Given the description of an element on the screen output the (x, y) to click on. 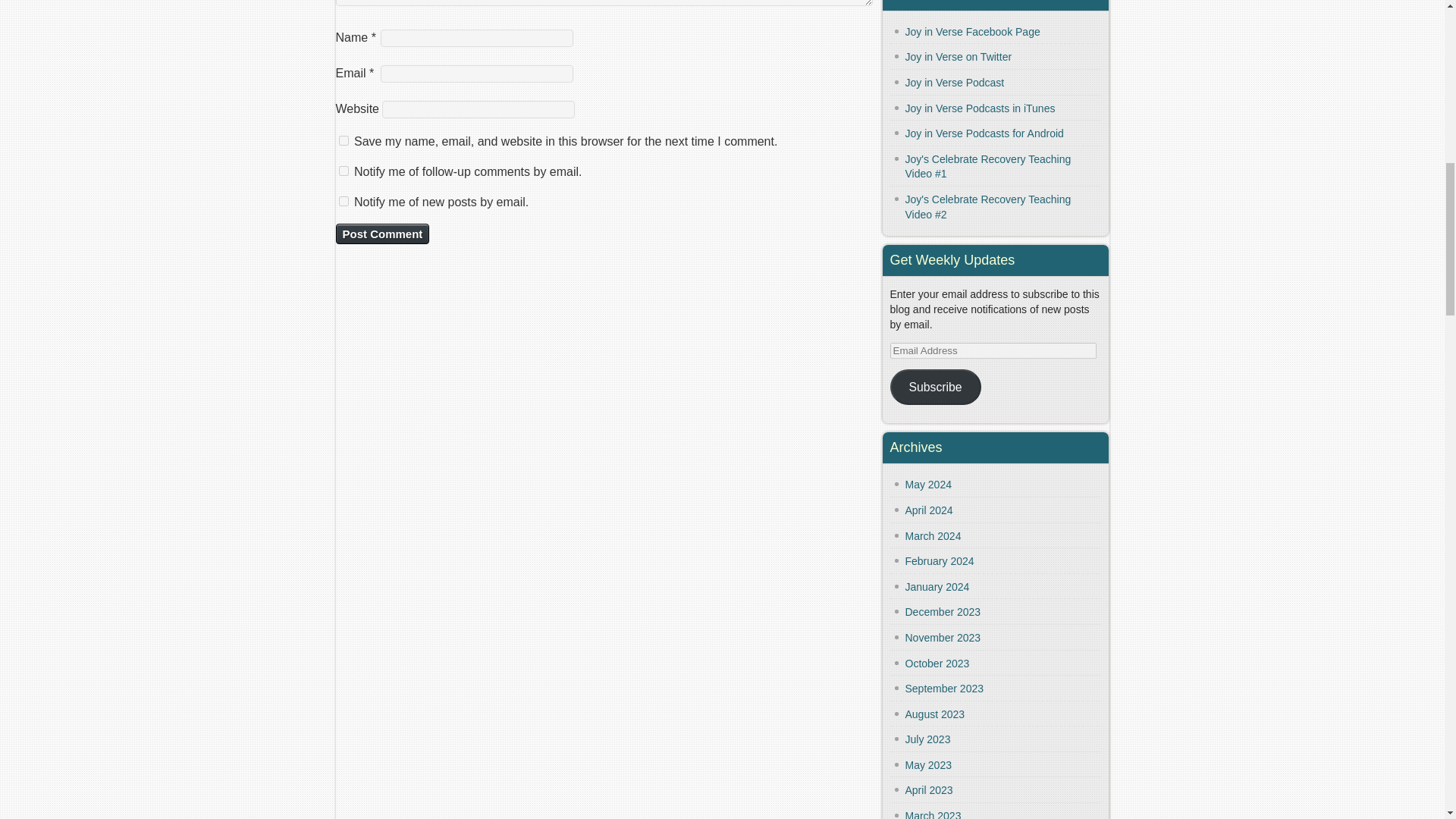
Joy in Verse Podcasts for Android (984, 133)
yes (342, 140)
March 2024 (932, 535)
Access the Joy in Verse podcast episodes through iTunes. (980, 108)
Joy in Verse Podcasts in iTunes (980, 108)
Subscribe (935, 386)
Post Comment (381, 233)
Joy in Verse Facebook Page (973, 31)
Post Comment (381, 233)
subscribe (342, 171)
April 2024 (929, 510)
Send me a friend request! (973, 31)
subscribe (342, 201)
Get a weekly bit of encouragement through my weekly podcast. (954, 82)
Joy in Verse Podcast (954, 82)
